Given the description of an element on the screen output the (x, y) to click on. 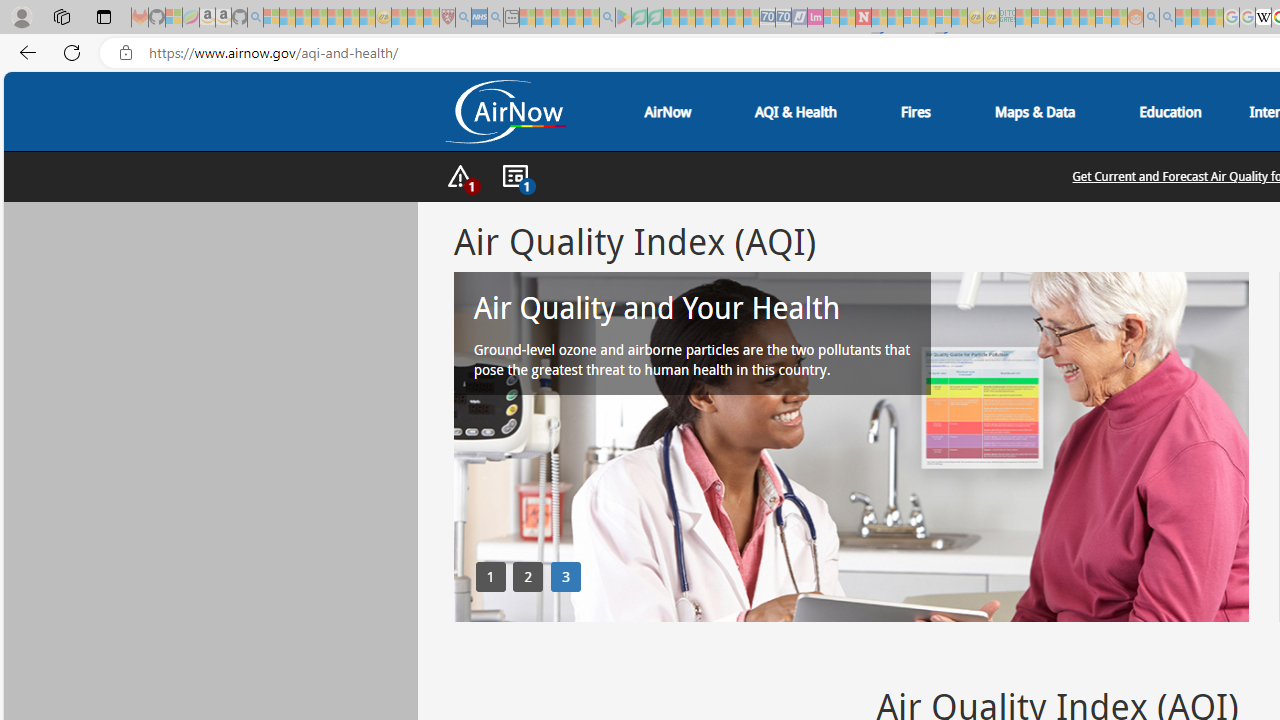
Bluey: Let's Play! - Apps on Google Play - Sleeping (623, 17)
Latest Politics News & Archive | Newsweek.com - Sleeping (863, 17)
AutomationID: nav-alerts-toggle (459, 177)
Local - MSN - Sleeping (431, 17)
Air Now Logo (504, 111)
